Given the description of an element on the screen output the (x, y) to click on. 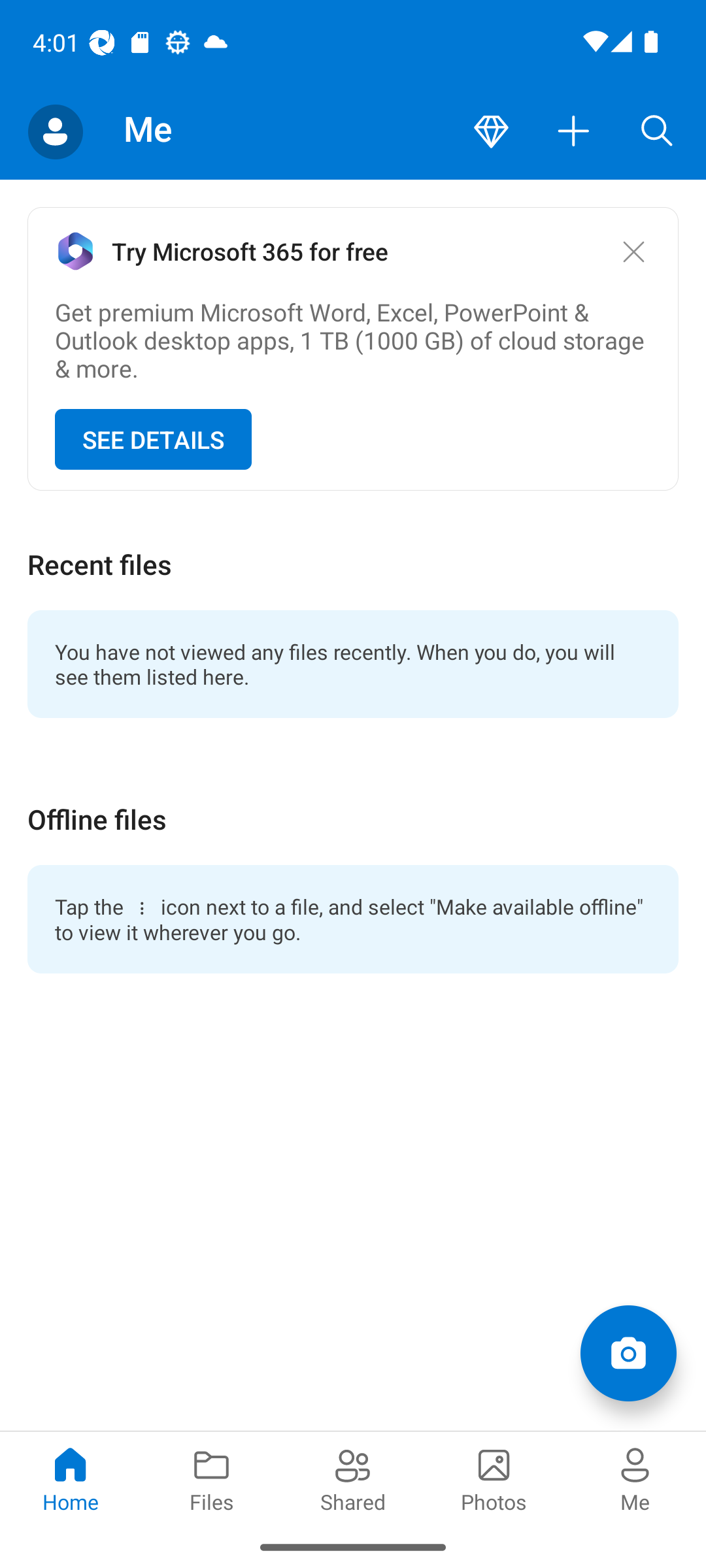
Account switcher (55, 131)
Premium button (491, 131)
More actions button (574, 131)
Search button (656, 131)
Close (633, 251)
SEE DETAILS (153, 439)
Scan (628, 1352)
Files pivot Files (211, 1478)
Shared pivot Shared (352, 1478)
Photos pivot Photos (493, 1478)
Me pivot Me (635, 1478)
